Given the description of an element on the screen output the (x, y) to click on. 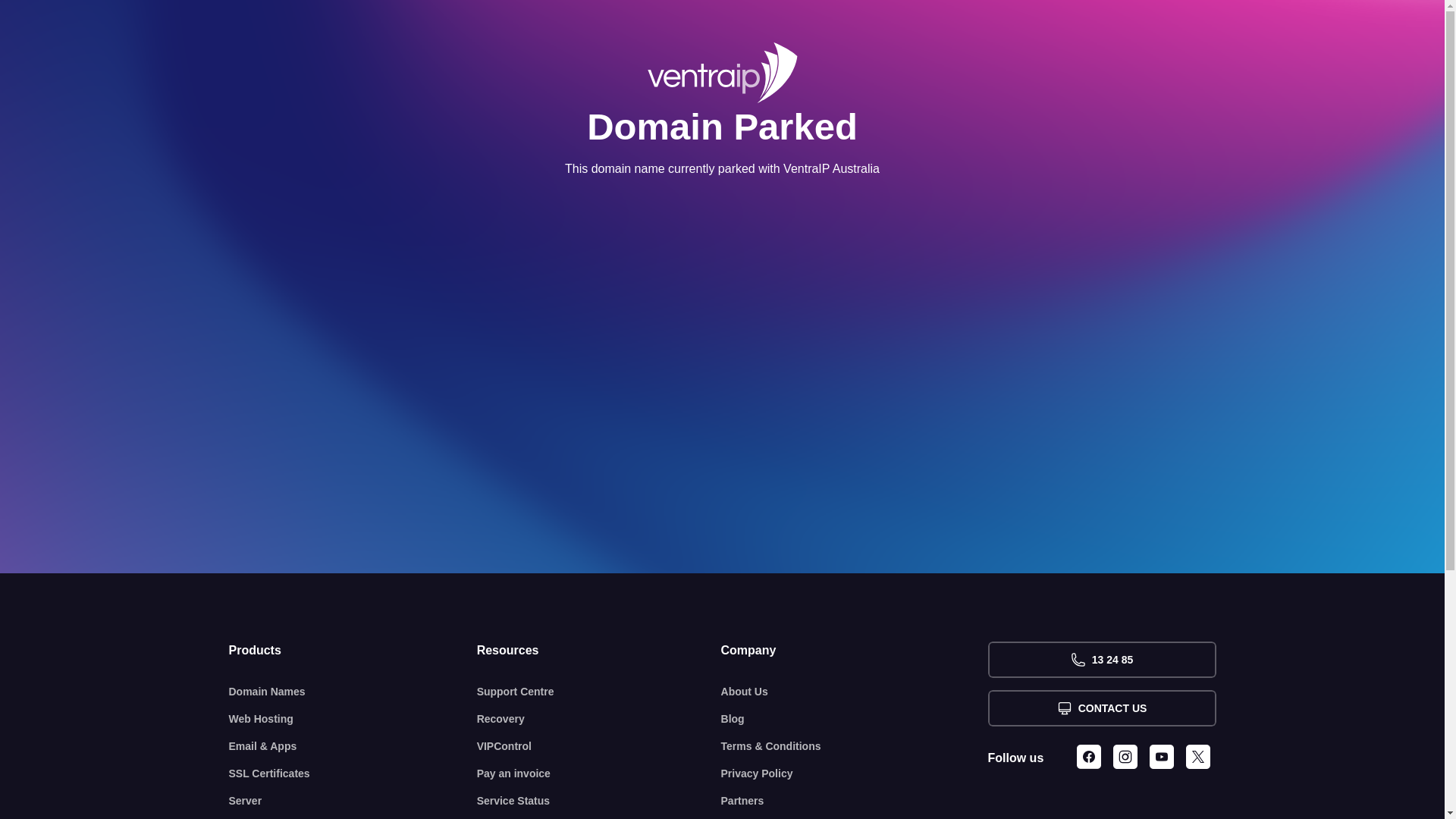
Web Hosting Element type: text (352, 718)
Terms & Conditions Element type: text (854, 745)
Domain Names Element type: text (352, 691)
About Us Element type: text (854, 691)
Pay an invoice Element type: text (598, 773)
Email & Apps Element type: text (352, 745)
CONTACT US Element type: text (1101, 708)
Service Status Element type: text (598, 800)
Blog Element type: text (854, 718)
Server Element type: text (352, 800)
VIPControl Element type: text (598, 745)
Partners Element type: text (854, 800)
Support Centre Element type: text (598, 691)
13 24 85 Element type: text (1101, 659)
Privacy Policy Element type: text (854, 773)
Recovery Element type: text (598, 718)
SSL Certificates Element type: text (352, 773)
